Given the description of an element on the screen output the (x, y) to click on. 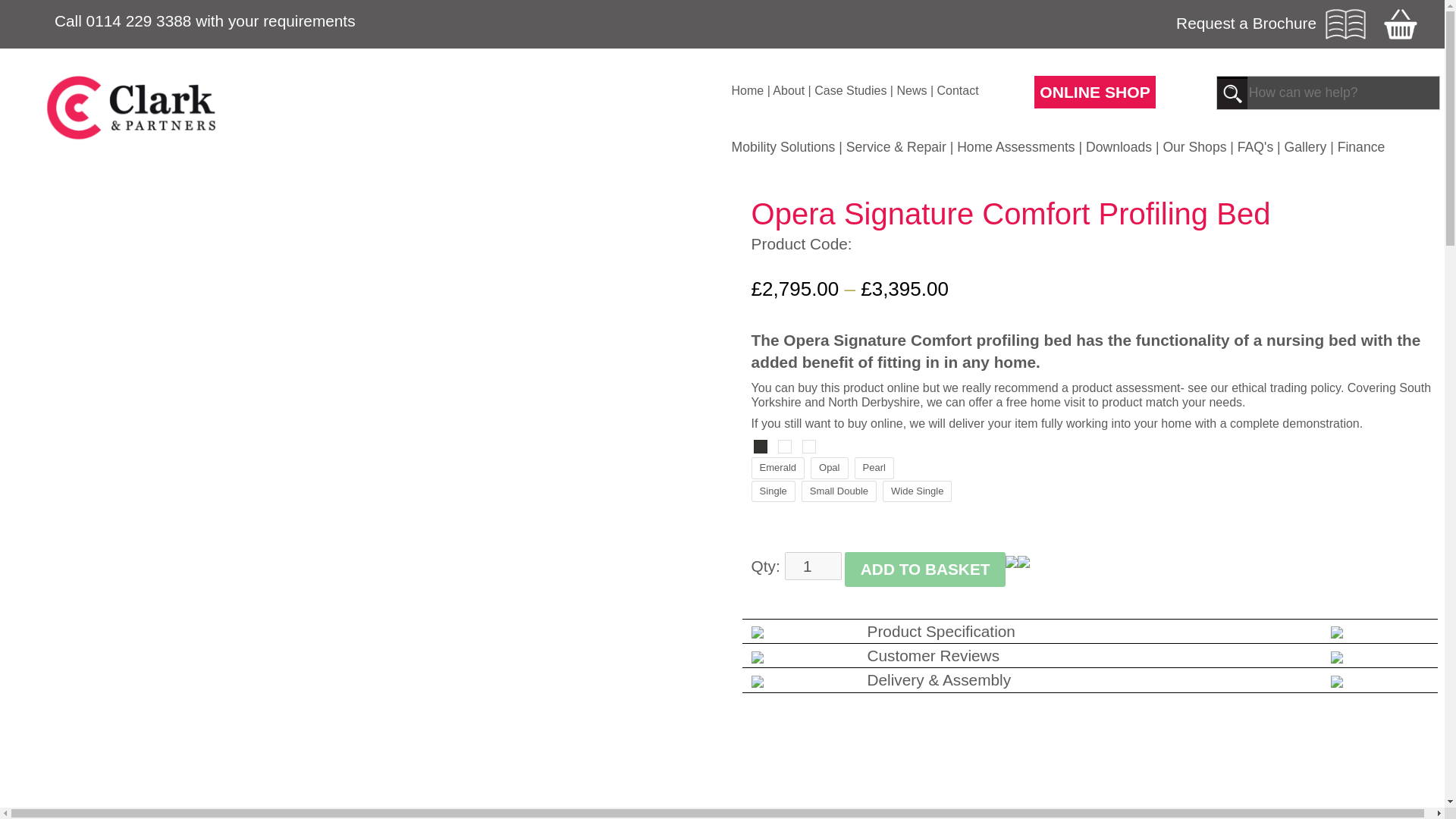
ONLINE SHOP (1094, 92)
FAQ's (1254, 146)
Home Assessments (1015, 146)
Request a Brochure   (1270, 22)
Mobility Solutions (782, 146)
Downloads (1118, 146)
Qty (813, 565)
Contact (957, 90)
1 (813, 565)
News (911, 90)
Home (746, 90)
Gallery (1305, 146)
Our Shops (1193, 146)
About (789, 90)
Finance (1362, 146)
